Given the description of an element on the screen output the (x, y) to click on. 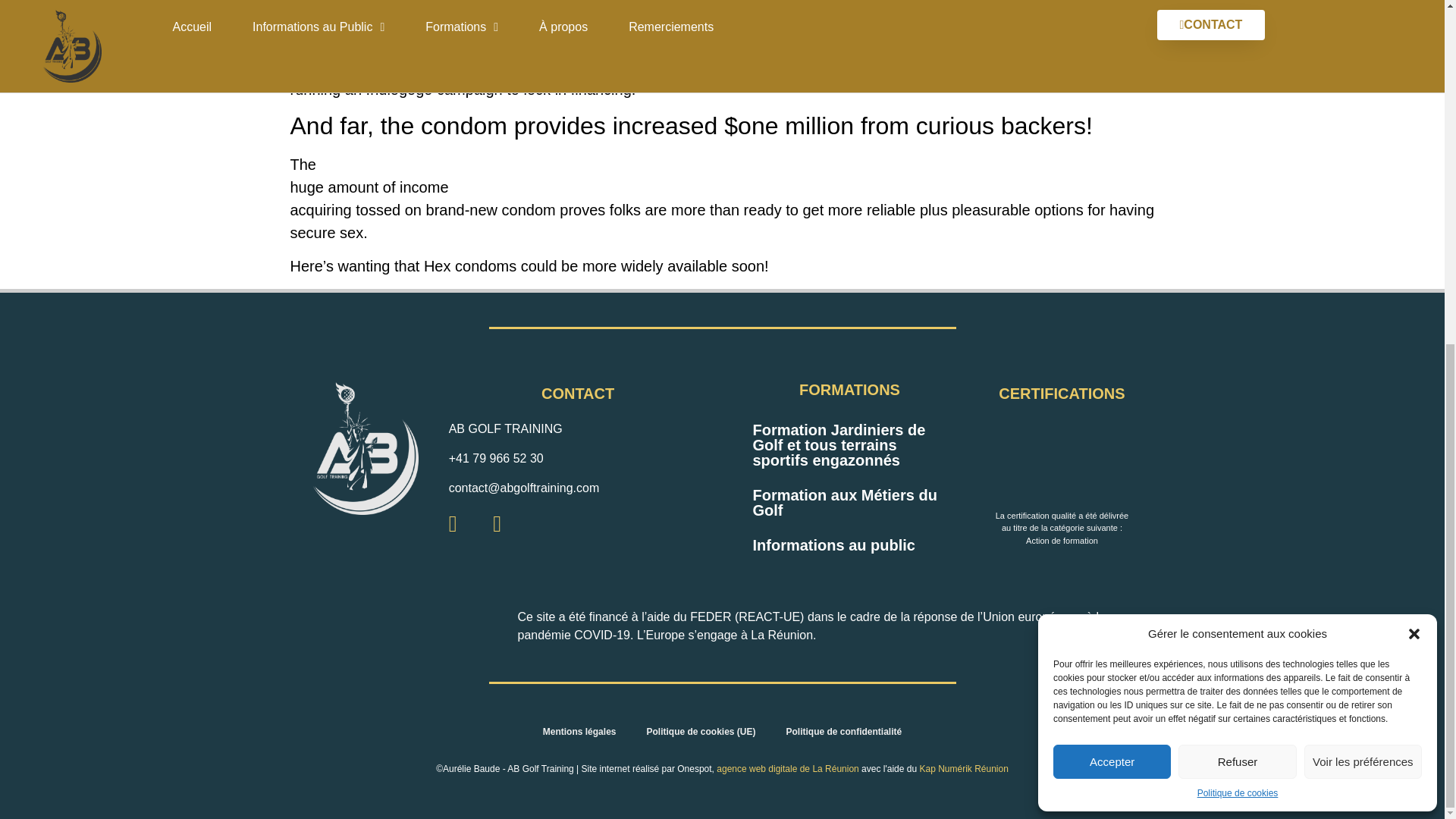
Agence Web Digital (787, 768)
Accepter (1111, 172)
Politique de cookies (1237, 203)
Refuser (1236, 172)
